Given the description of an element on the screen output the (x, y) to click on. 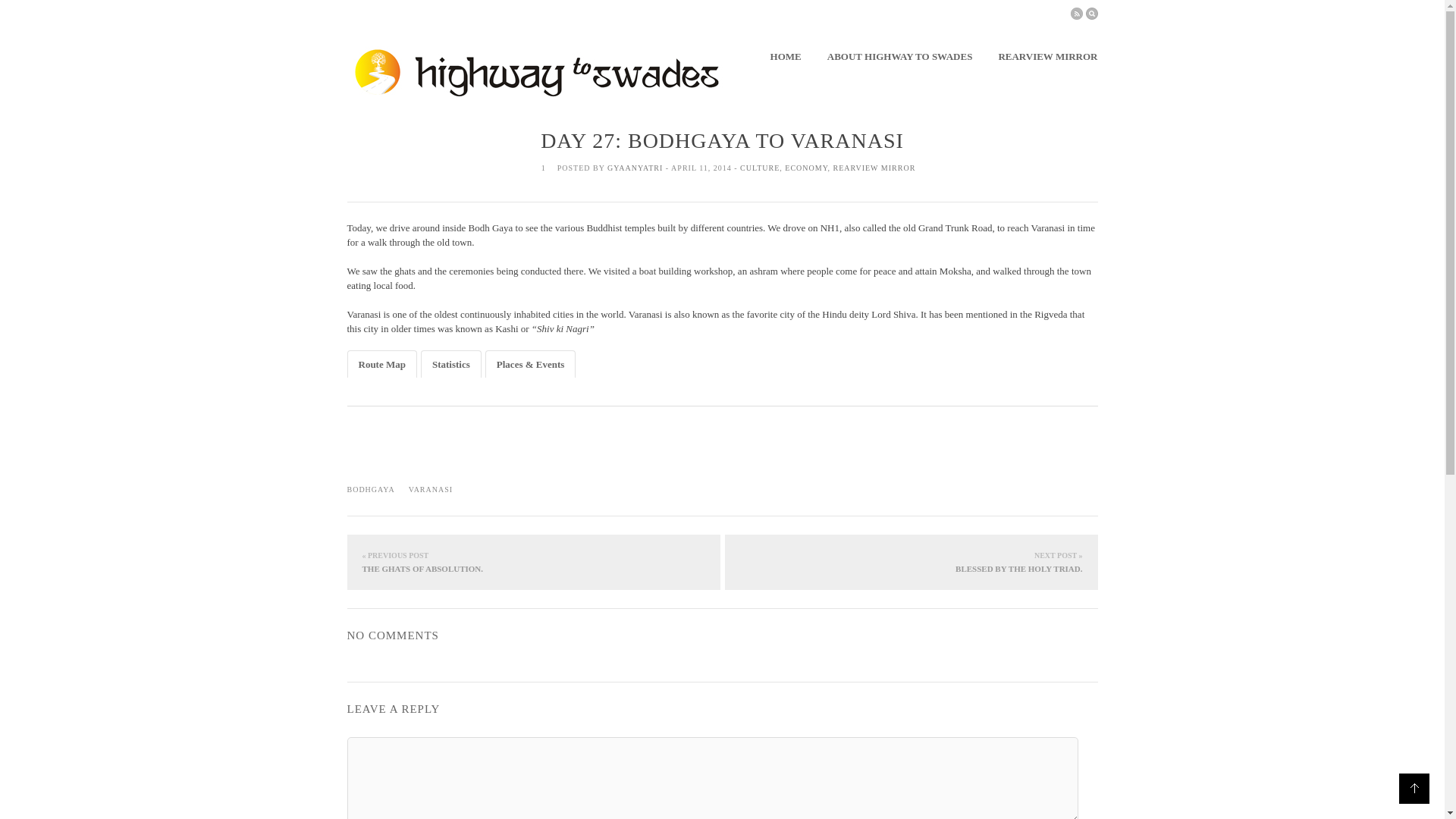
REARVIEW MIRROR (1047, 56)
VARANASI (430, 489)
Statistics (451, 364)
REARVIEW MIRROR (873, 167)
BODHGAYA (370, 489)
Route Map (381, 364)
ECONOMY (805, 167)
HOME (786, 56)
CULTURE (758, 167)
GYAANYATRI (634, 167)
Posts by gyaanyatri (634, 167)
ABOUT HIGHWAY TO SWADES (899, 56)
